Given the description of an element on the screen output the (x, y) to click on. 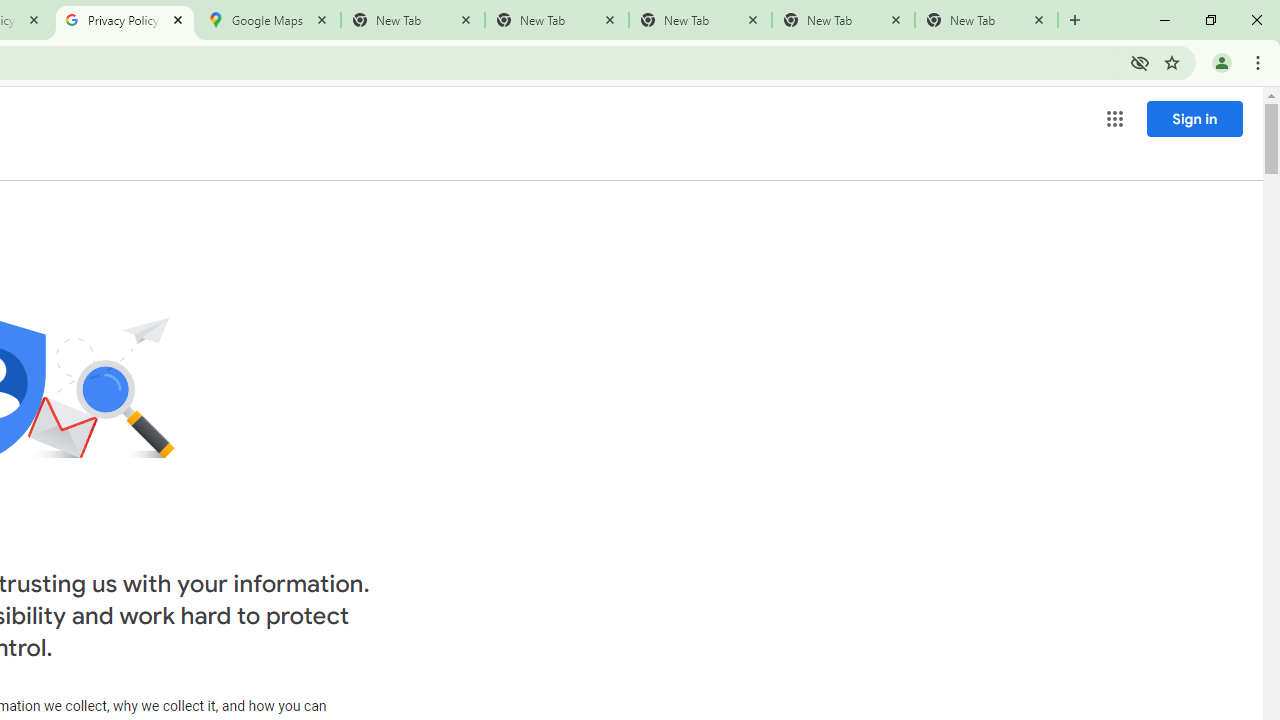
Google Maps (268, 20)
New Tab (986, 20)
